Given the description of an element on the screen output the (x, y) to click on. 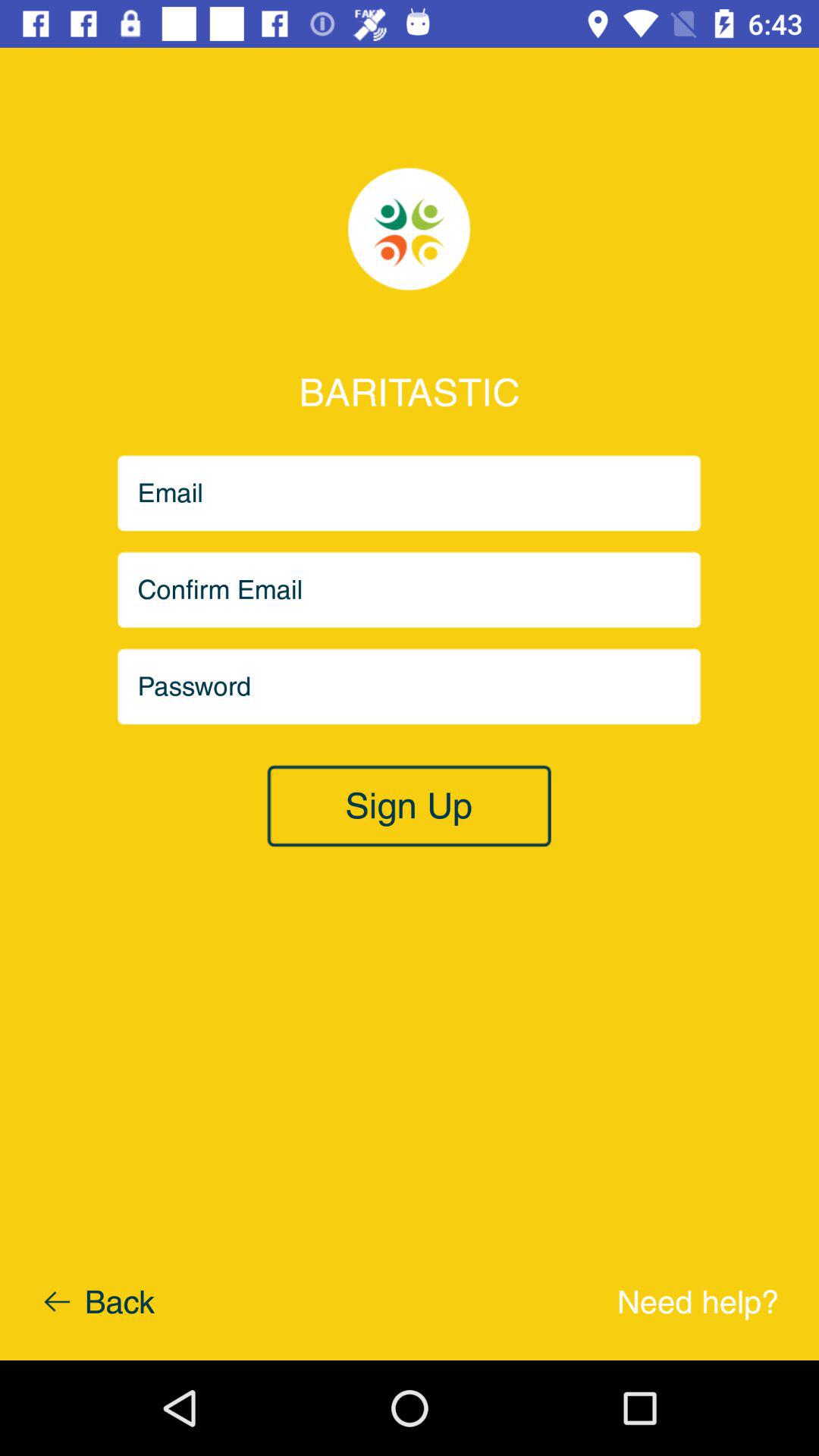
shows enter emil area (409, 589)
